Given the description of an element on the screen output the (x, y) to click on. 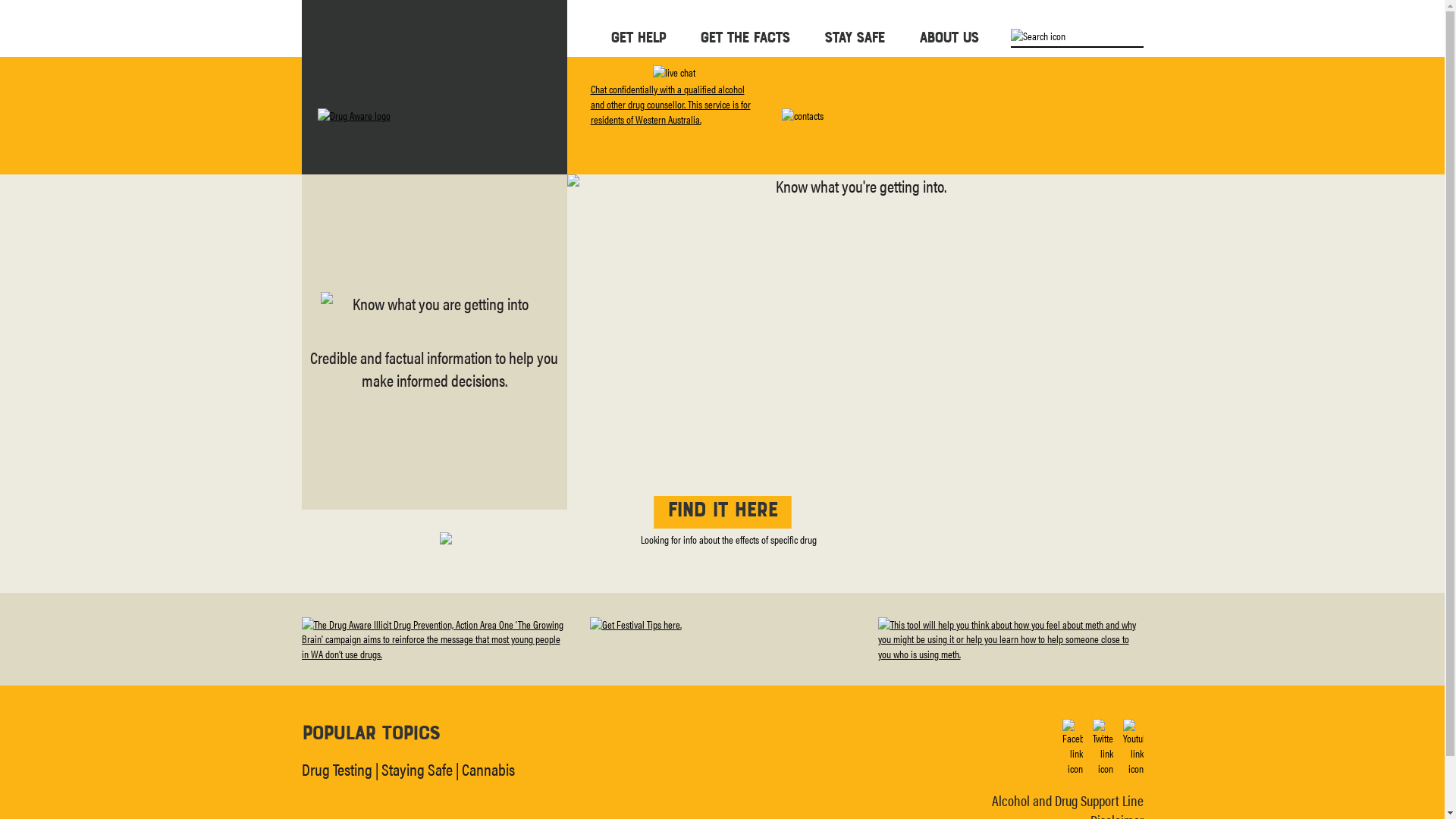
STAY SAFE Element type: text (853, 36)
GET THE FACTS Element type: text (743, 36)
Staying Safe Element type: text (415, 768)
Drug Testing Element type: text (336, 768)
ABOUT US Element type: text (948, 36)
Alcohol and Drug Support Line Element type: text (1067, 800)
Find it here Element type: text (721, 511)
GET HELP Element type: text (636, 36)
Cannabis Element type: text (487, 768)
